Given the description of an element on the screen output the (x, y) to click on. 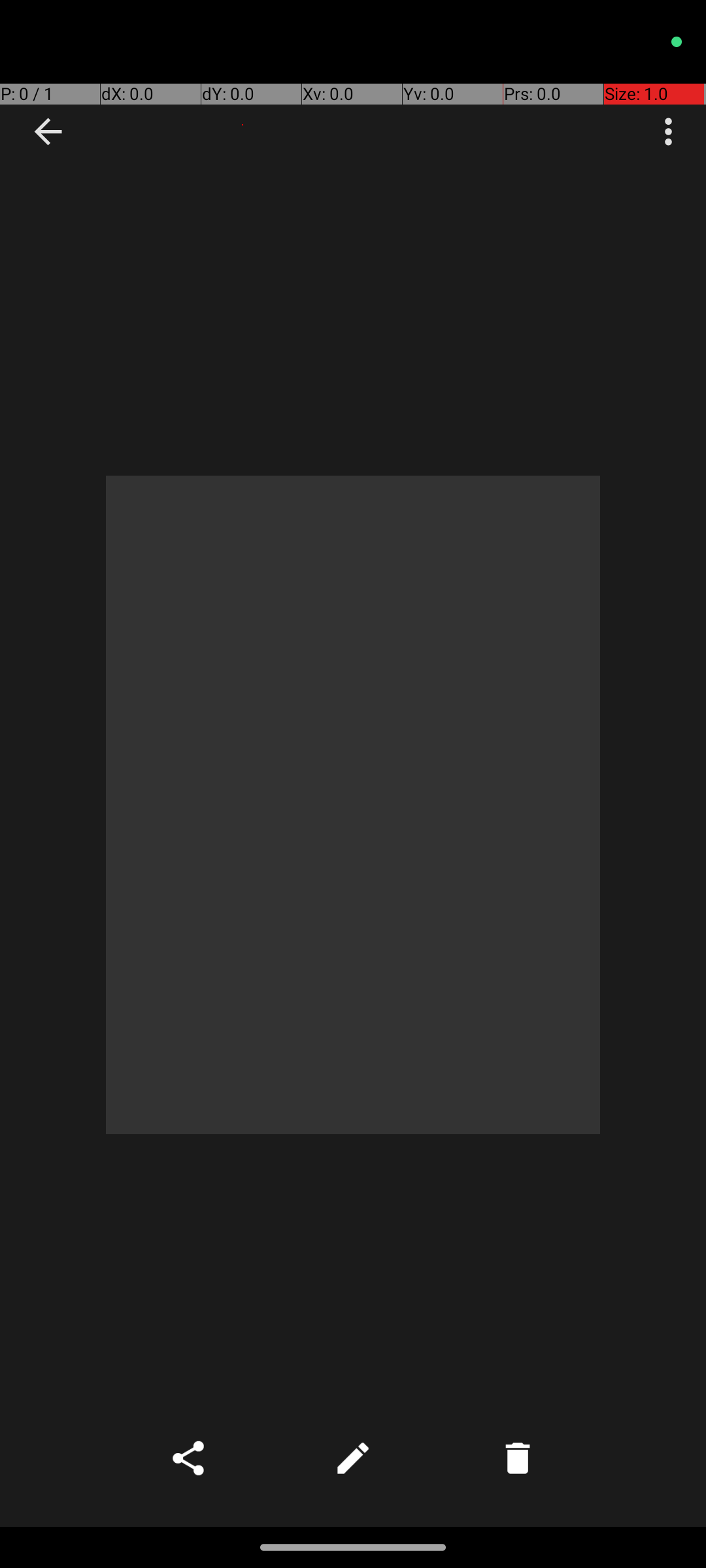
Edit Element type: android.widget.ImageButton (352, 1458)
Delete Element type: android.widget.ImageButton (517, 1458)
Photo taken on Oct 15, 2023 15:34:17 Element type: android.widget.ImageView (352, 804)
